Given the description of an element on the screen output the (x, y) to click on. 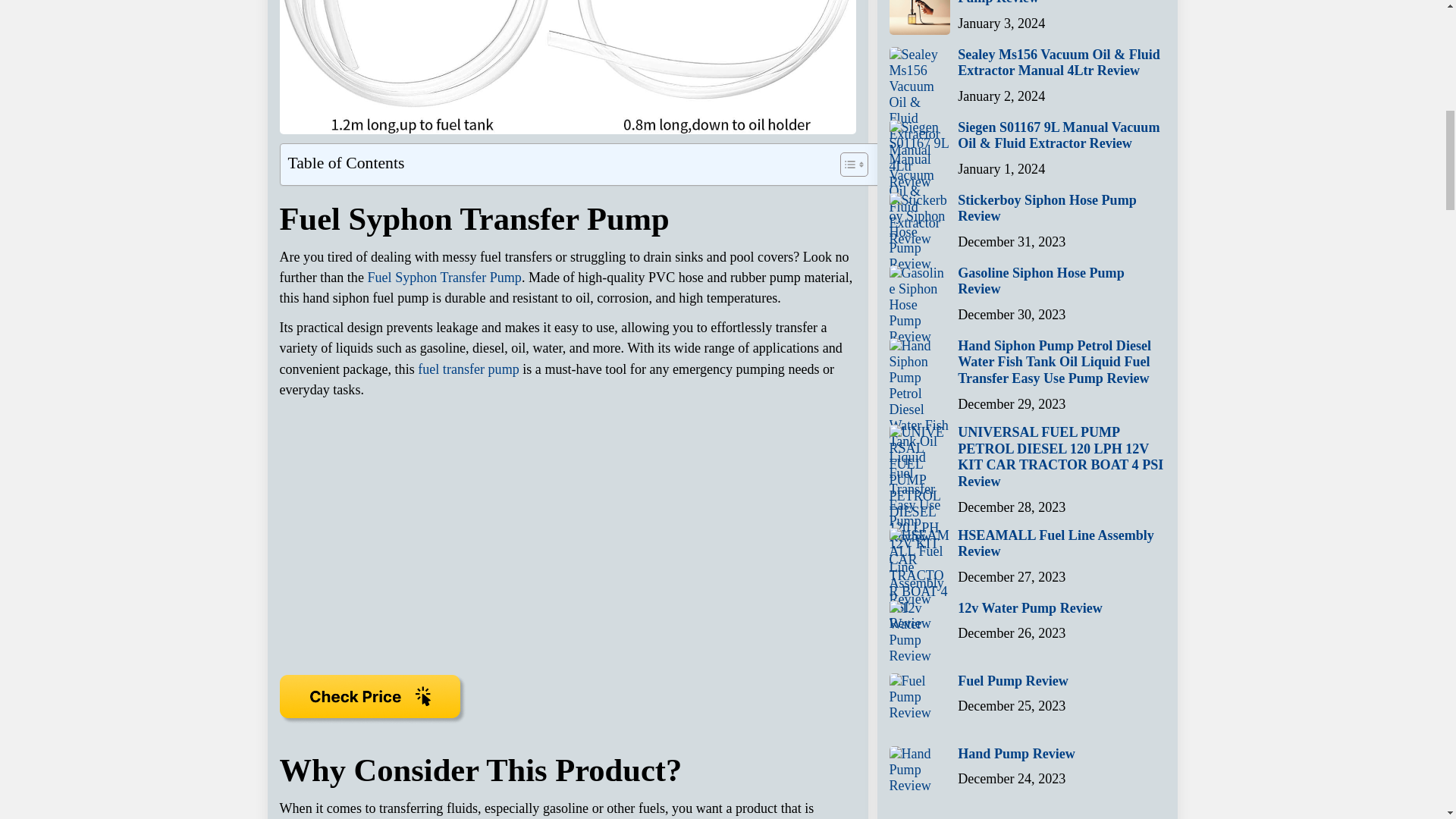
Fuel Syphon Transfer Pump (443, 277)
fuel transfer pump (468, 368)
